Given the description of an element on the screen output the (x, y) to click on. 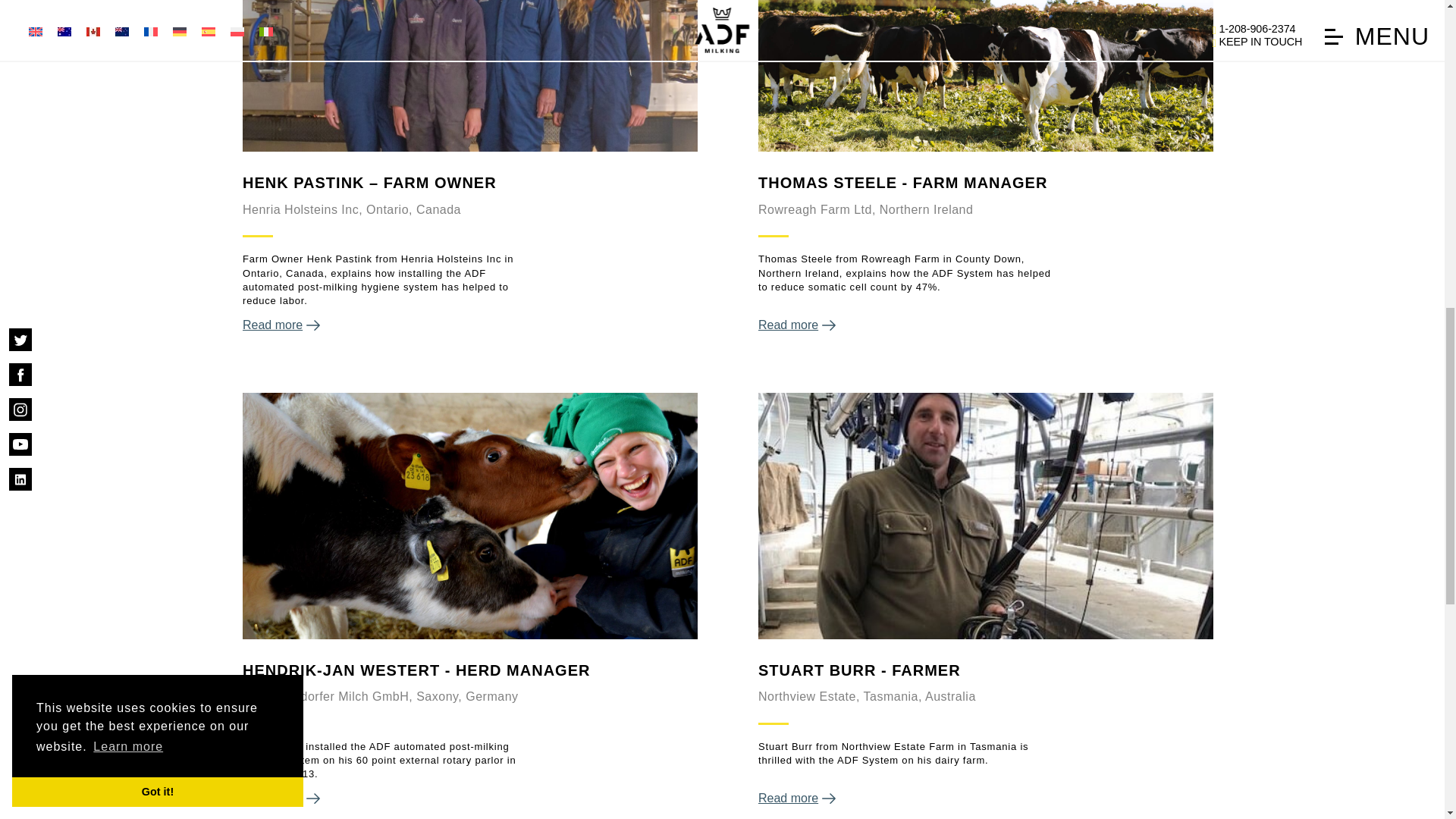
Read more (470, 798)
Read more (985, 798)
Read more (985, 324)
Read more (470, 324)
